Given the description of an element on the screen output the (x, y) to click on. 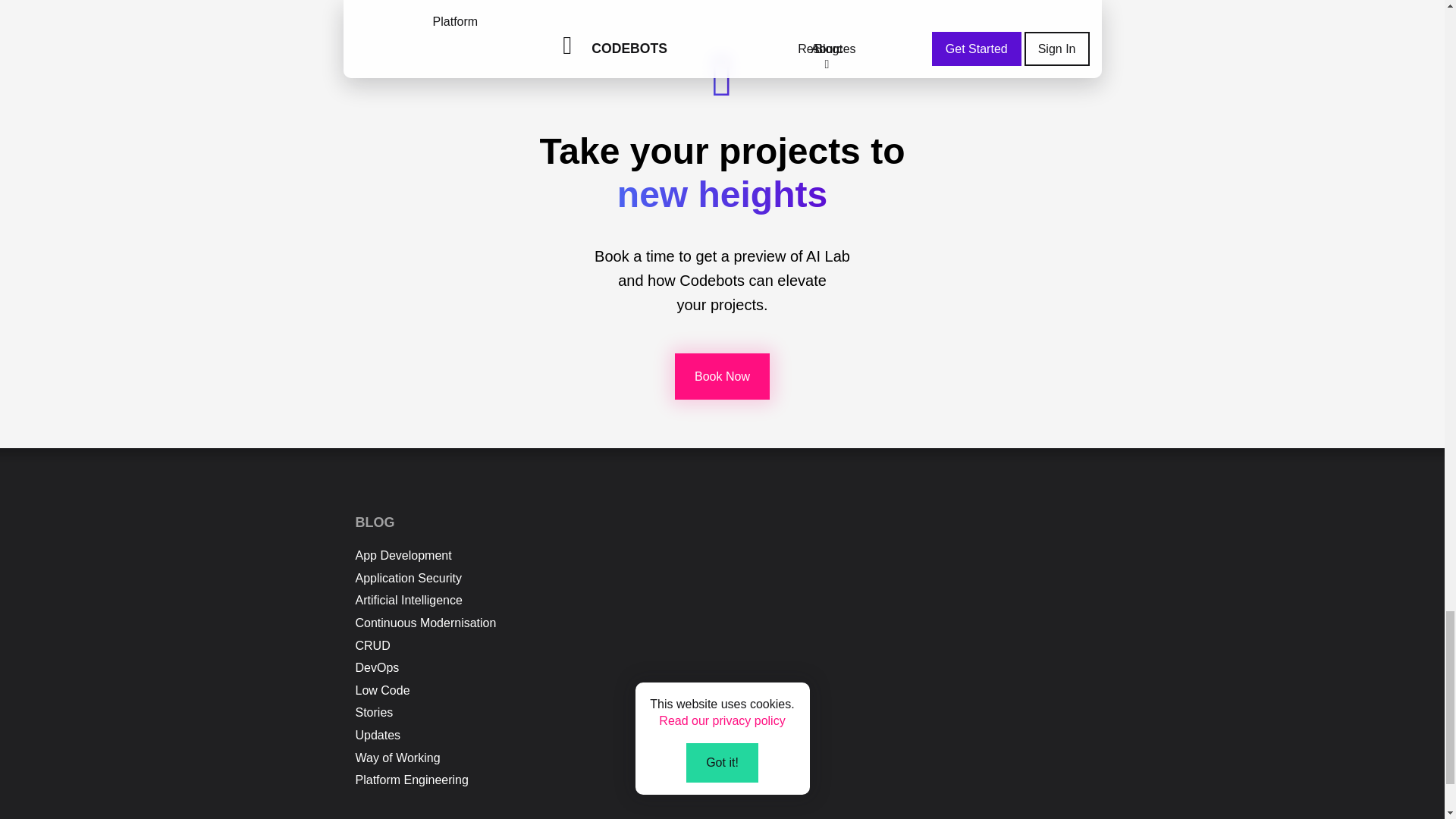
Stories (374, 712)
Platform Engineering (411, 779)
Way of Working (397, 757)
Application Security (408, 577)
BLOG (374, 522)
Updates (377, 735)
Artificial Intelligence (408, 599)
DevOps (376, 667)
Book Now (722, 376)
CRUD (372, 645)
Continuous Modernisation (425, 622)
App Development (403, 554)
Low Code (382, 689)
